Given the description of an element on the screen output the (x, y) to click on. 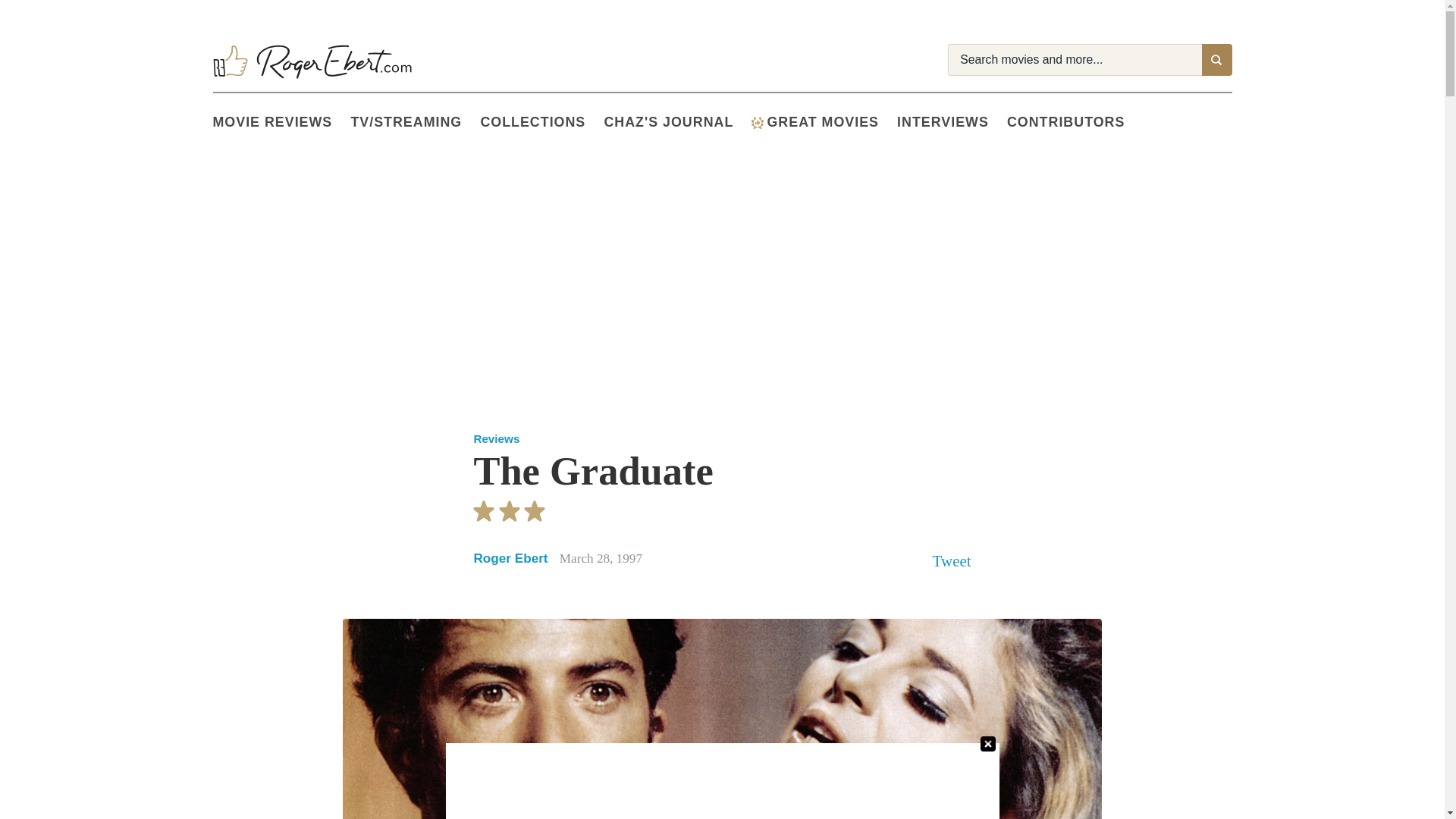
Contributors (1074, 122)
star-full (509, 511)
Interviews (951, 122)
CONTRIBUTORS (1074, 122)
star-full (484, 511)
GREAT MOVIES (823, 122)
COLLECTIONS (542, 122)
Chaz's Journal (677, 122)
Tweet (952, 561)
Great Movies (756, 122)
Great Movies (823, 122)
CHAZ'S JOURNAL (677, 122)
Reviews (496, 438)
Collections (542, 122)
